Given the description of an element on the screen output the (x, y) to click on. 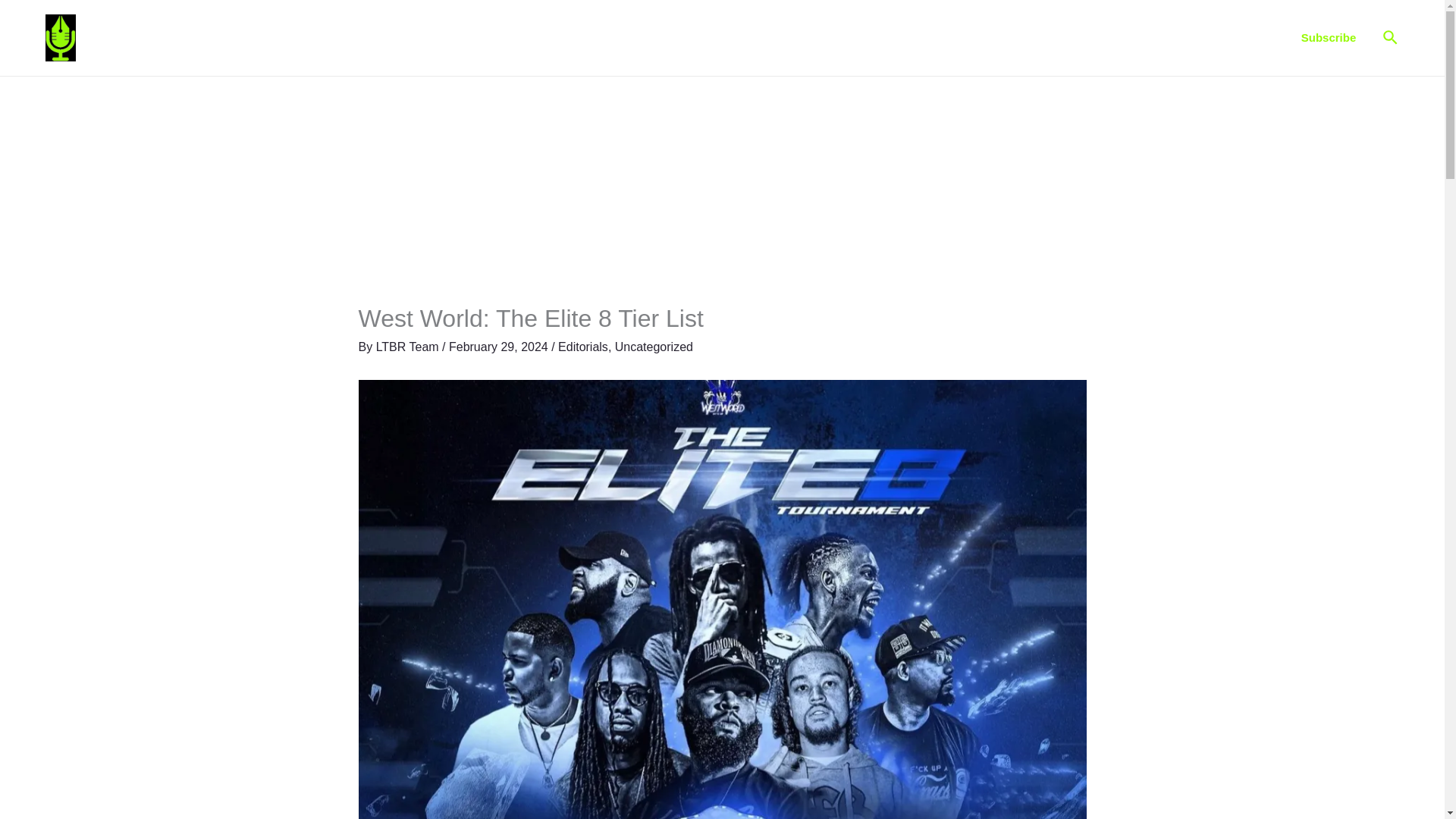
Subscribe (1328, 37)
PODCASTS (1034, 38)
View all posts by LTBR Team (408, 346)
LATEST NEWS (792, 38)
EDITORIALS (882, 38)
Let's Talk Battle Rap (160, 37)
LEAGUES (1124, 38)
